Given the description of an element on the screen output the (x, y) to click on. 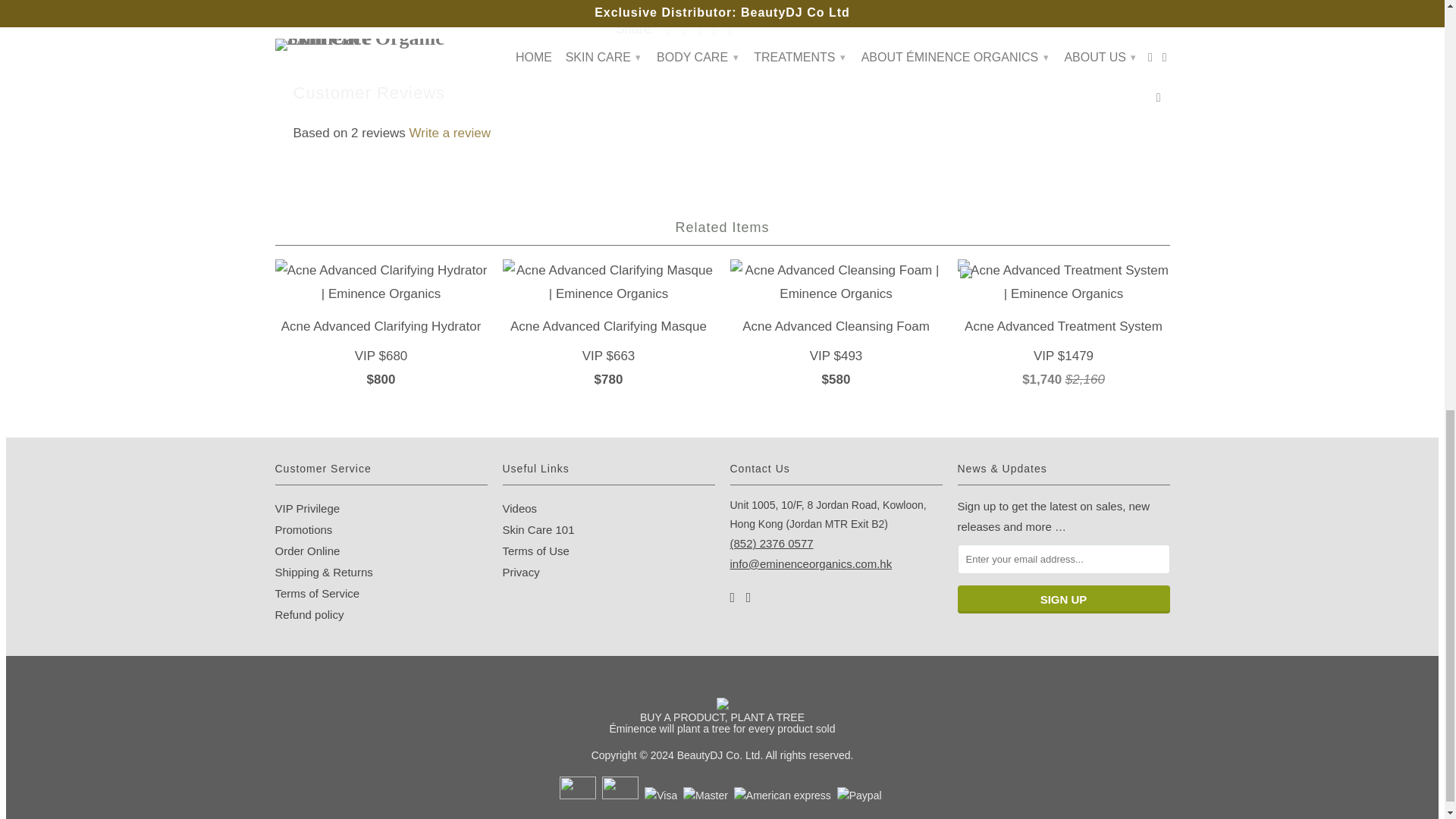
Promotions (303, 529)
Email this to a friend (726, 30)
VIP Privilege (307, 508)
Sign Up (1062, 599)
Share this on Facebook (679, 30)
Share this on Pinterest (694, 30)
